Given the description of an element on the screen output the (x, y) to click on. 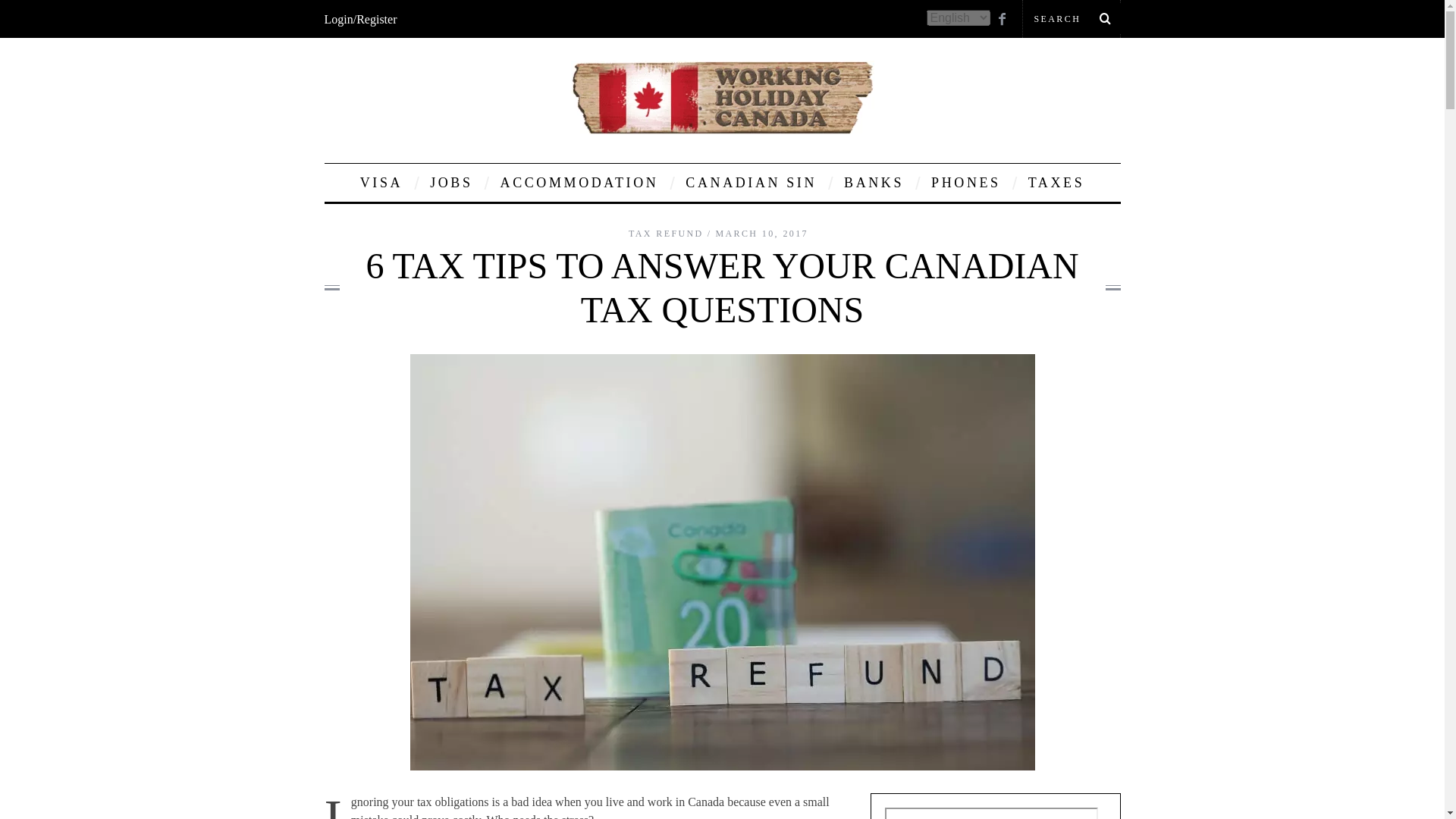
Search (1071, 18)
